Given the description of an element on the screen output the (x, y) to click on. 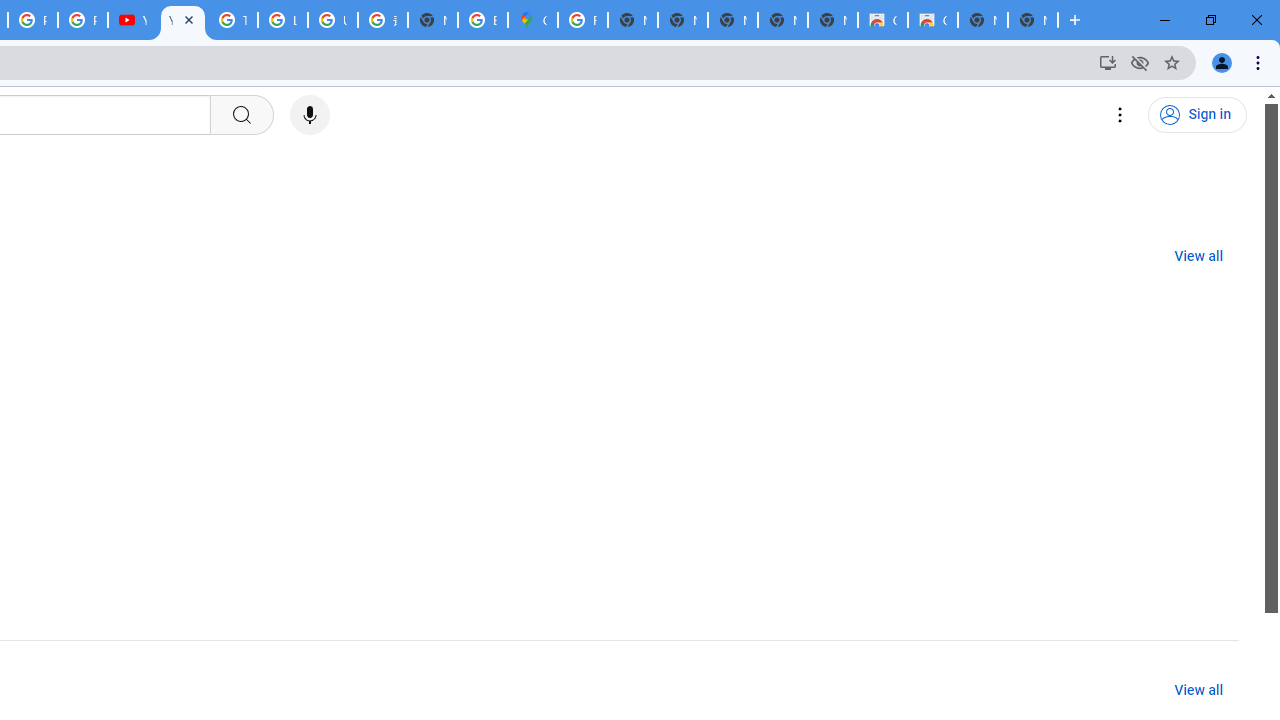
Install YouTube (1107, 62)
Explore new street-level details - Google Maps Help (483, 20)
Classic Blue - Chrome Web Store (882, 20)
Search with your voice (309, 115)
Google Maps (533, 20)
View all (1198, 690)
New Tab (433, 20)
YouTube (132, 20)
